Given the description of an element on the screen output the (x, y) to click on. 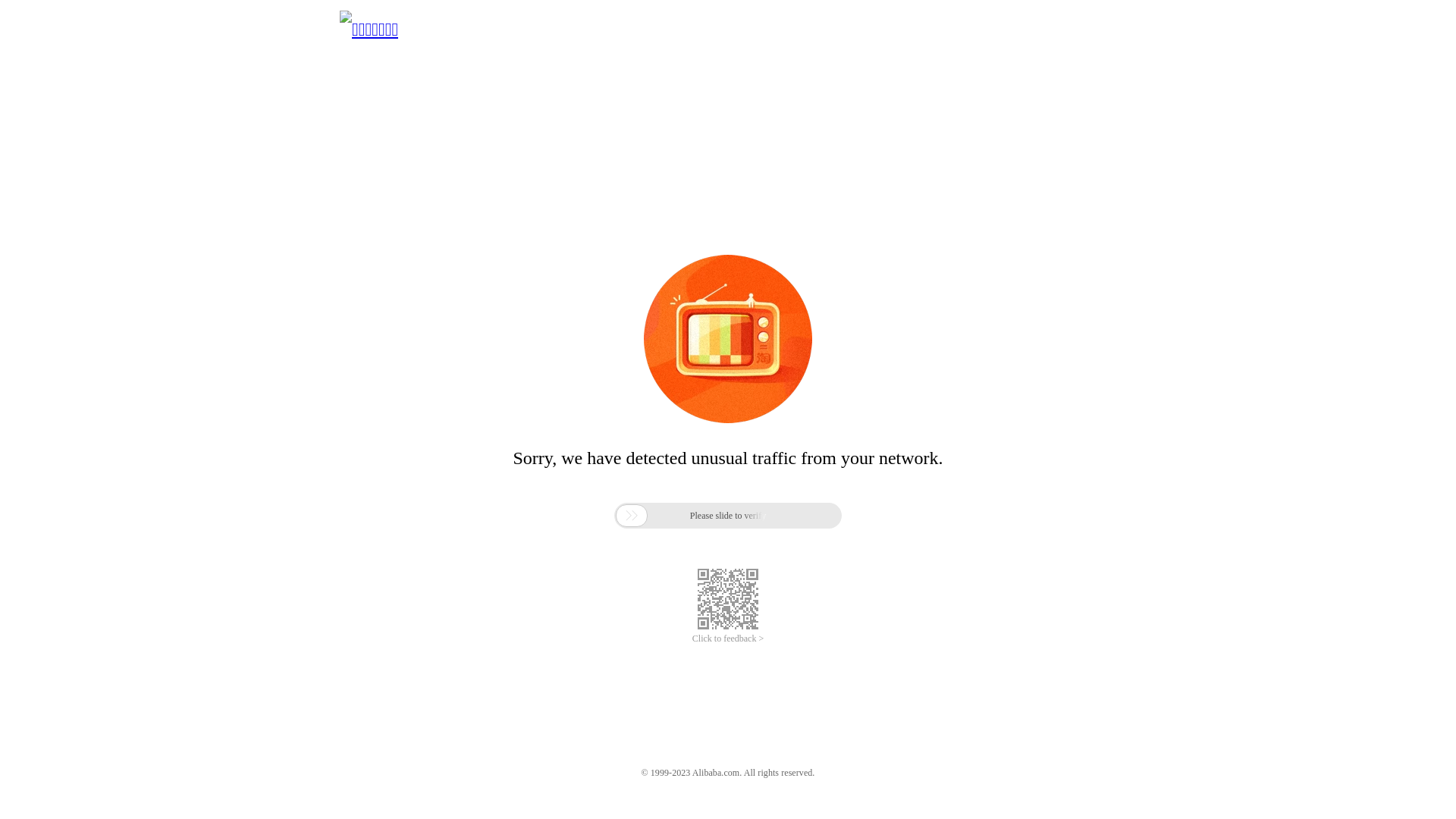
Click to feedback > Element type: text (727, 638)
